Given the description of an element on the screen output the (x, y) to click on. 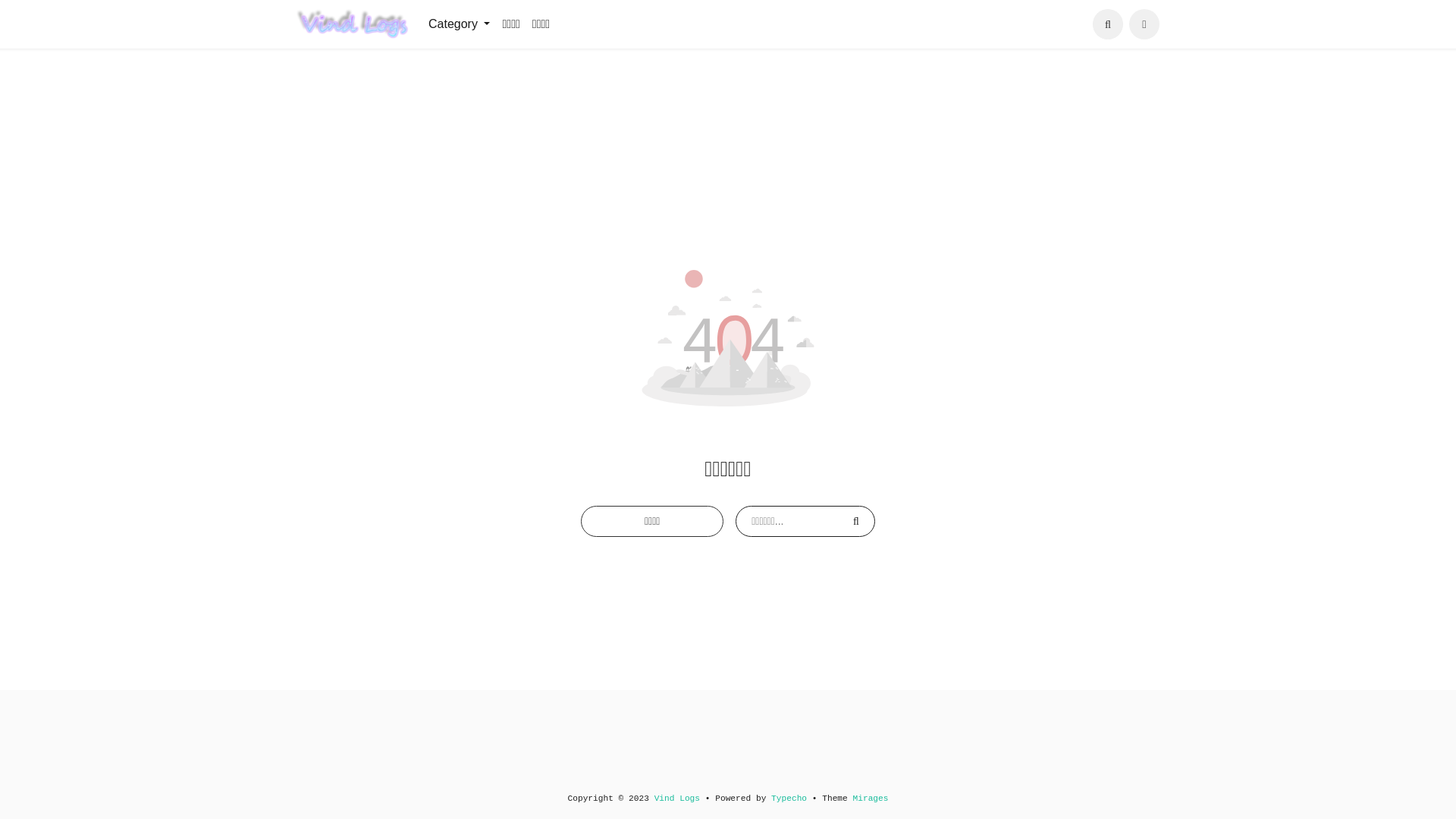
Vind Logs Element type: text (676, 798)
Typecho Element type: text (788, 798)
Category Element type: text (458, 23)
Mirages Element type: text (870, 798)
Search... Element type: hover (1107, 24)
